Given the description of an element on the screen output the (x, y) to click on. 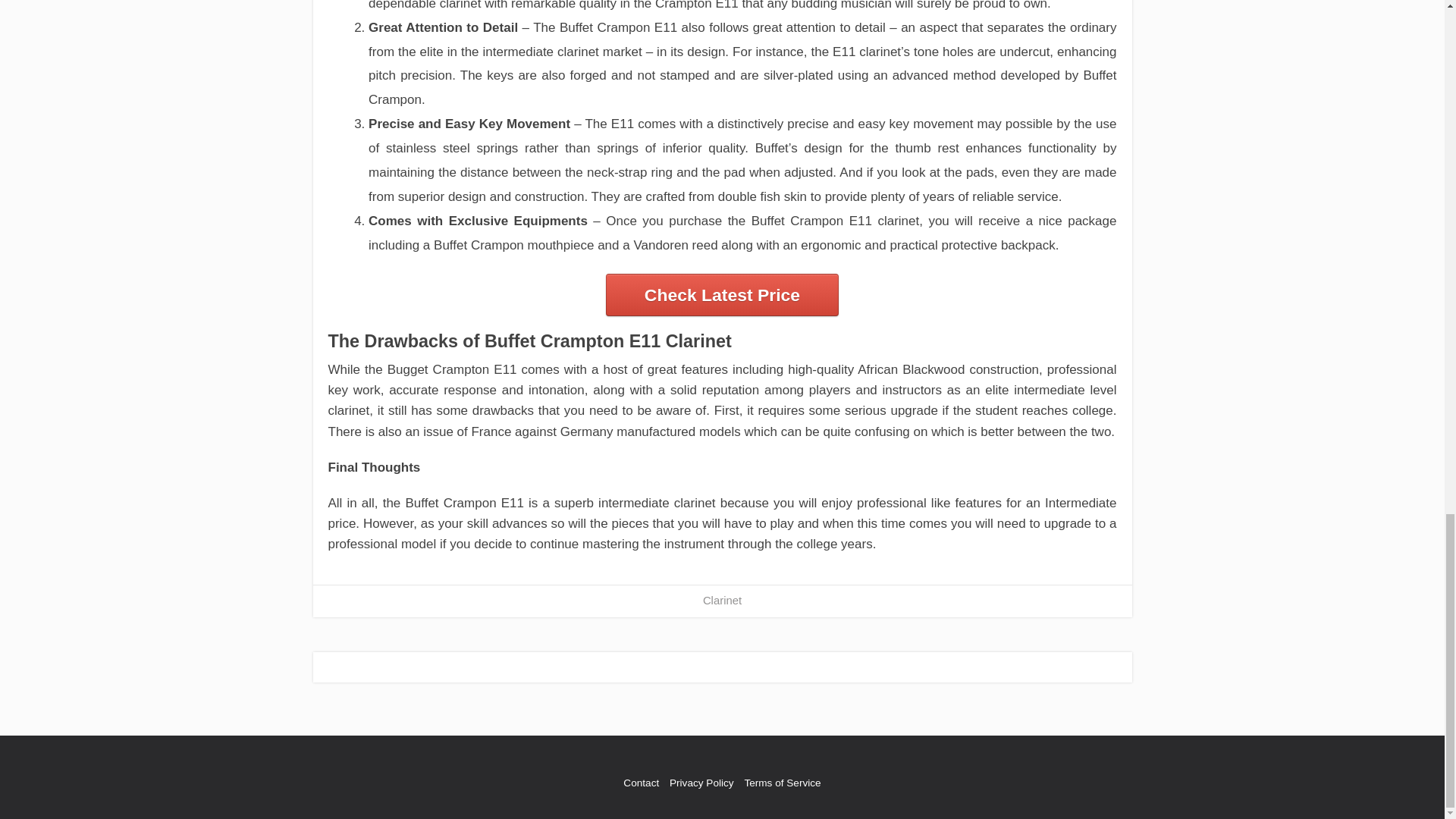
Check Latest Price (721, 294)
Clarinet (722, 600)
Terms of Service (782, 782)
Contact (641, 782)
Privacy Policy (701, 782)
